Given the description of an element on the screen output the (x, y) to click on. 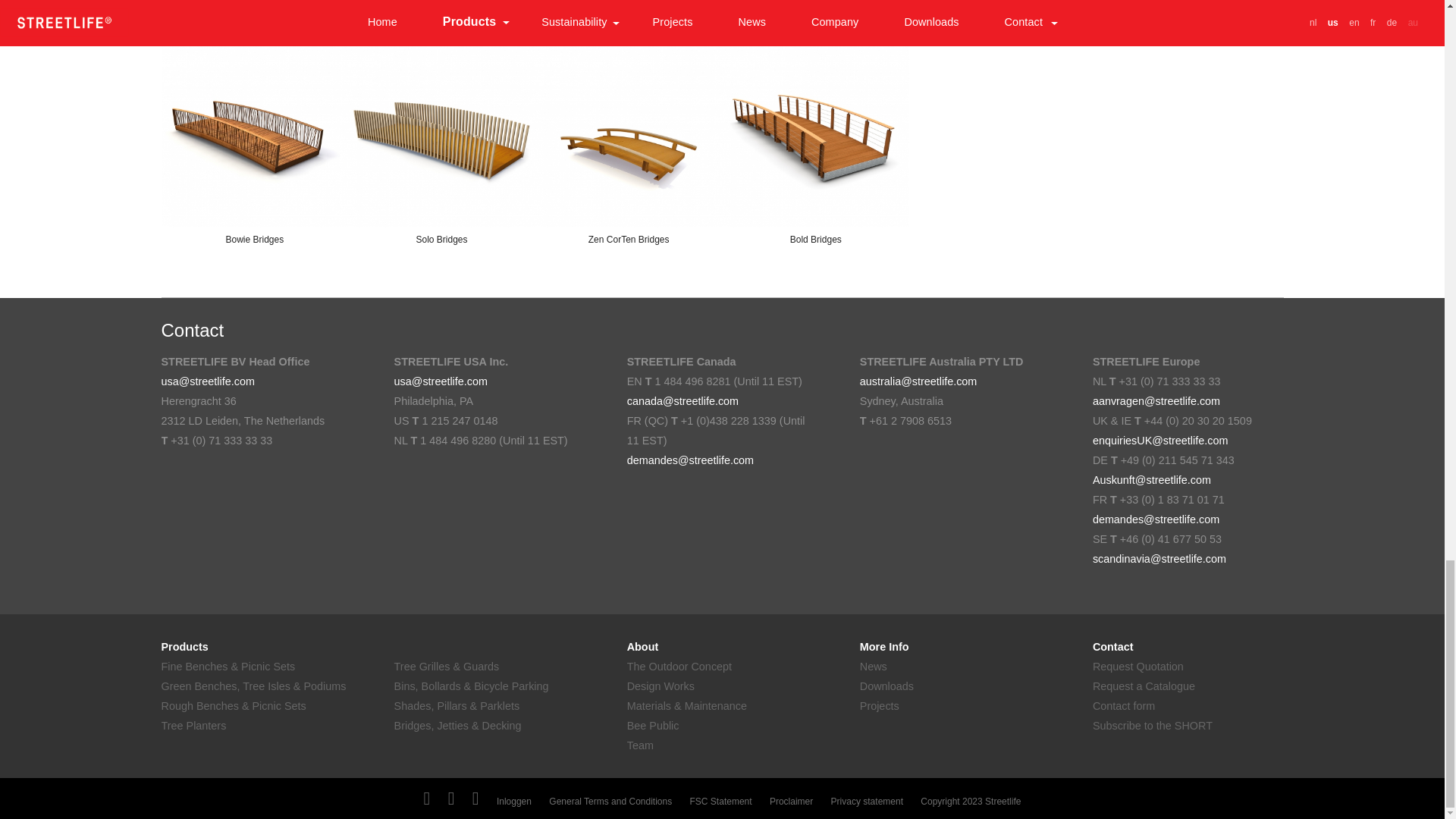
Bold Bridges (815, 133)
Solo Bridges (441, 133)
Bowie Bridges (253, 133)
Zen CorTen Bridges (628, 133)
